Given the description of an element on the screen output the (x, y) to click on. 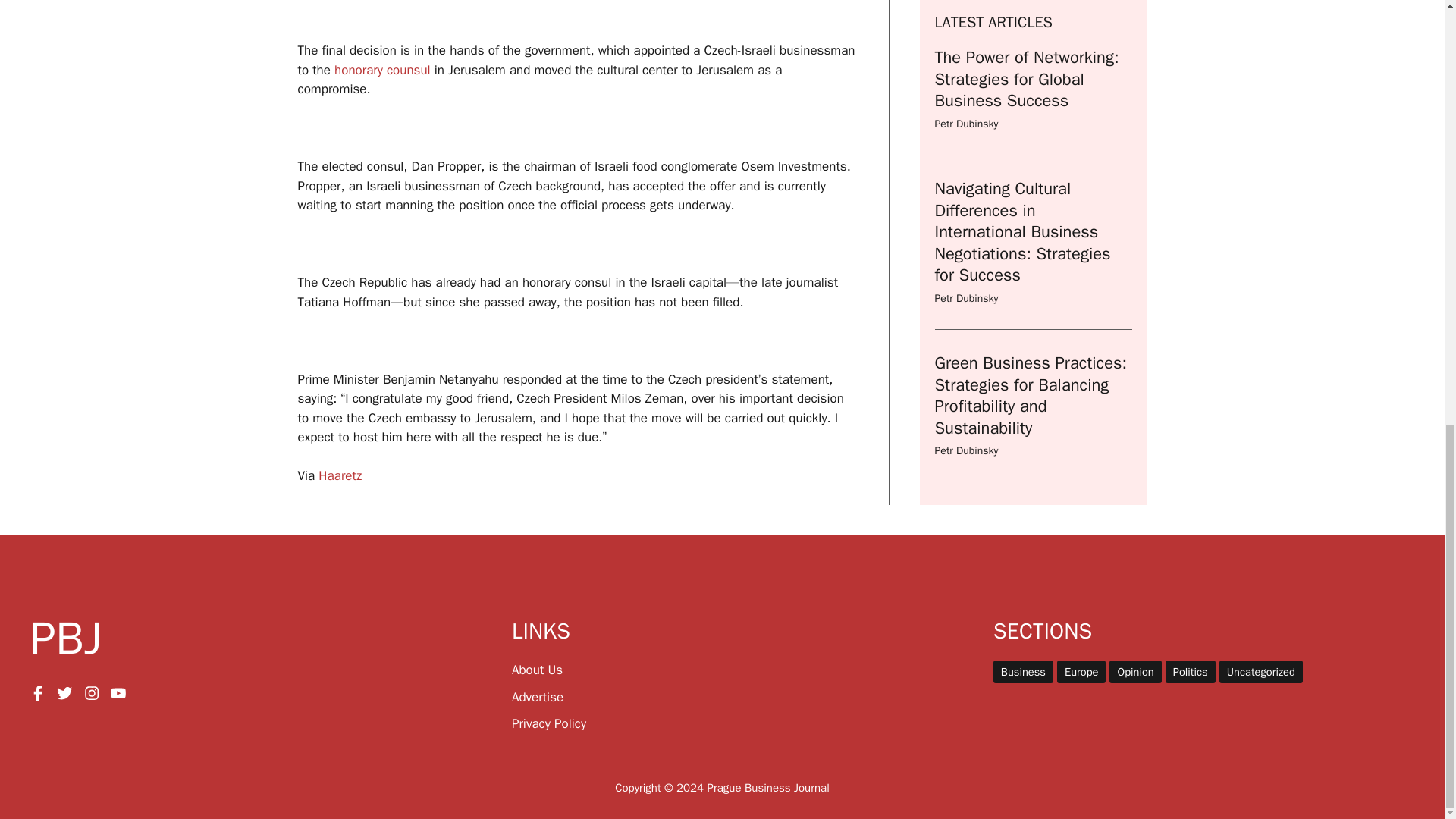
Opinion (1134, 671)
Privacy Policy (549, 723)
Europe (1081, 671)
Haaretz (339, 475)
About Us (537, 669)
honorary counsul (382, 69)
Politics (1190, 671)
Business (1022, 671)
Advertise (537, 697)
Uncategorized (1261, 671)
